Given the description of an element on the screen output the (x, y) to click on. 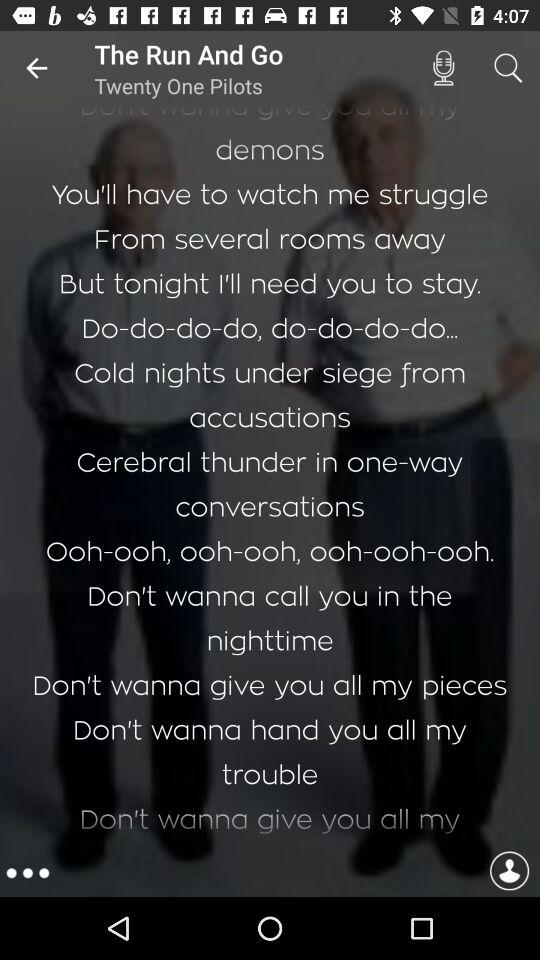
tap item at the bottom right corner (509, 873)
